Given the description of an element on the screen output the (x, y) to click on. 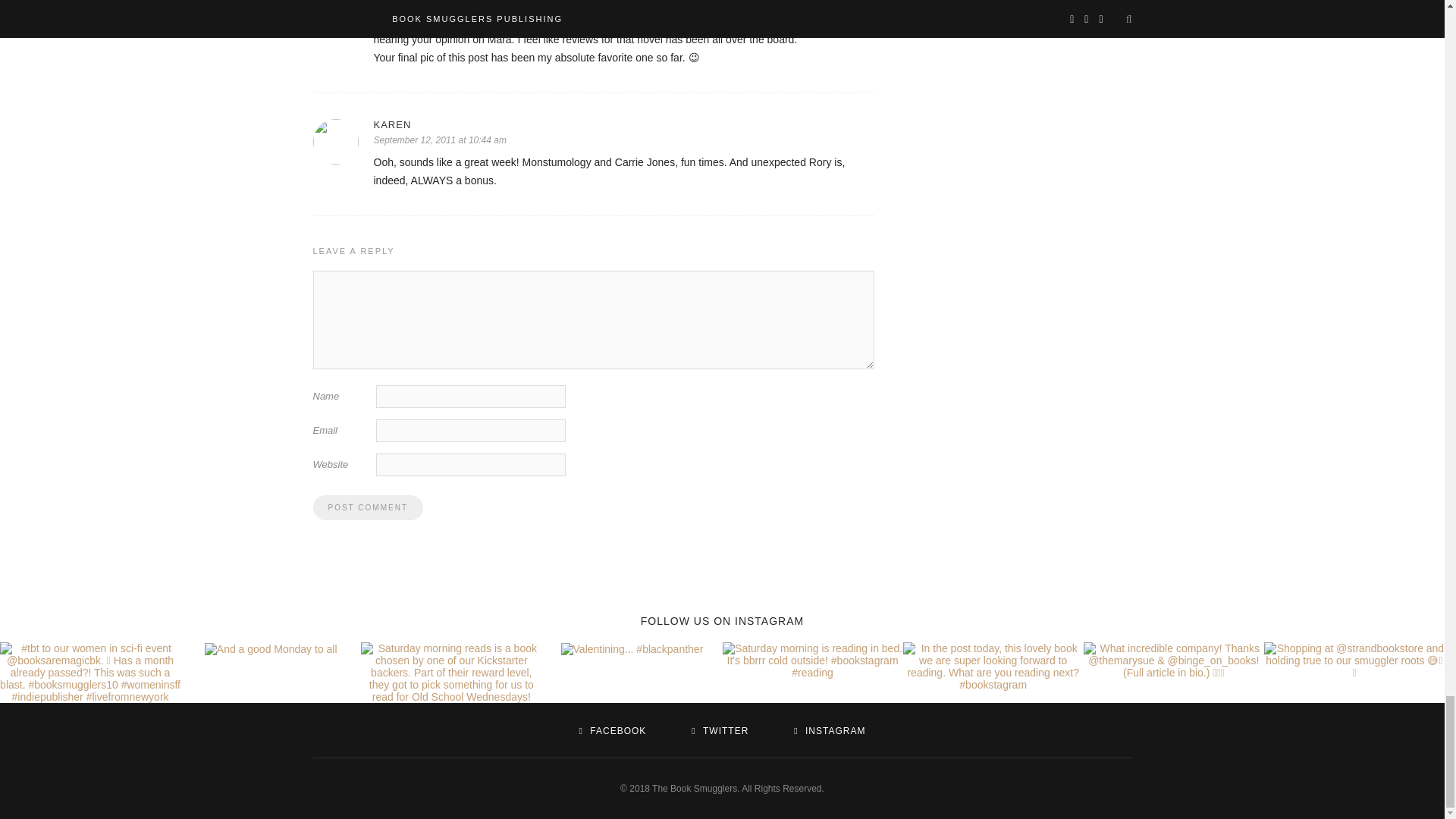
Post Comment (367, 507)
And a good Monday to all (271, 648)
